Given the description of an element on the screen output the (x, y) to click on. 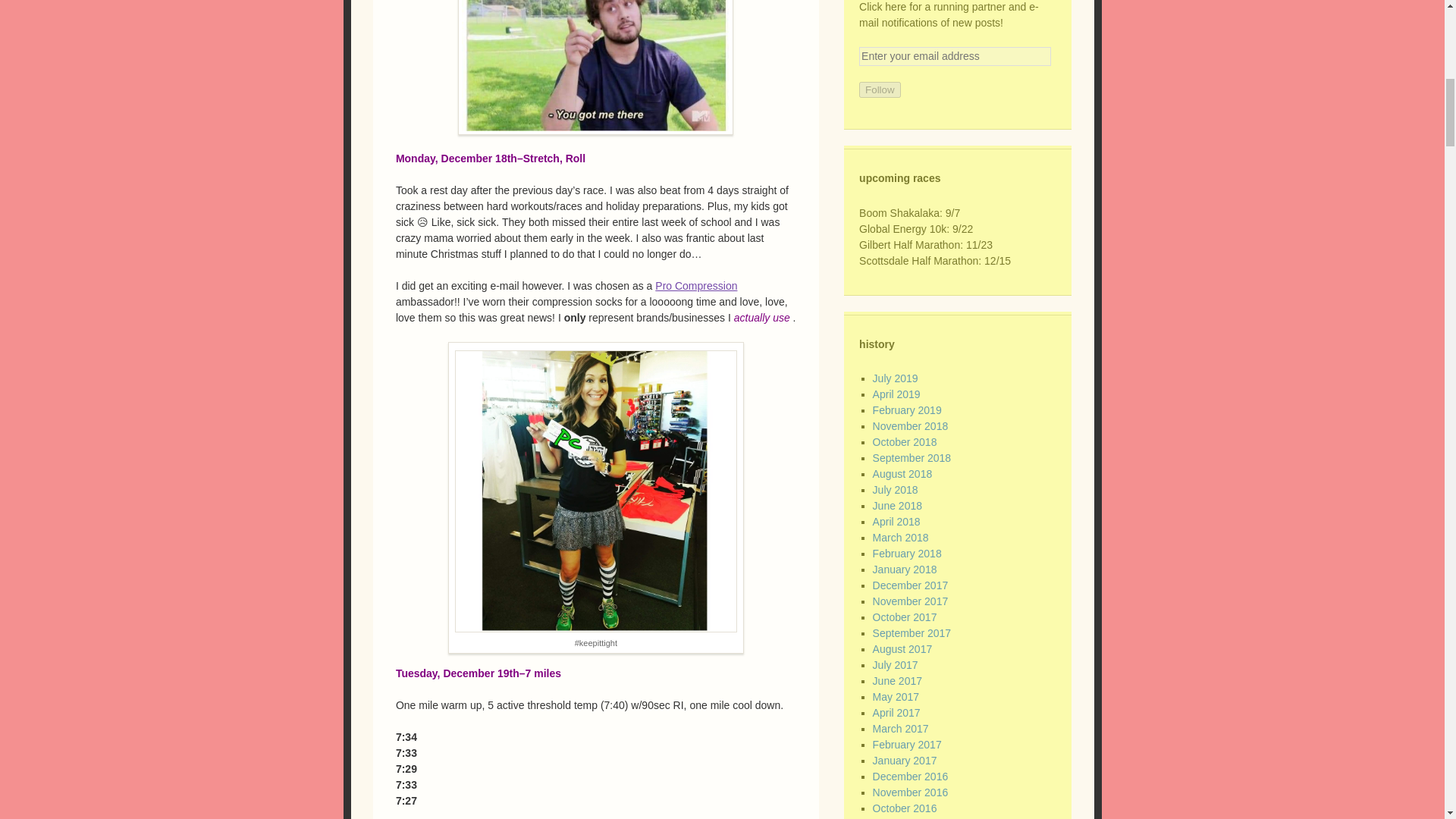
Pro Compression (695, 285)
